Given the description of an element on the screen output the (x, y) to click on. 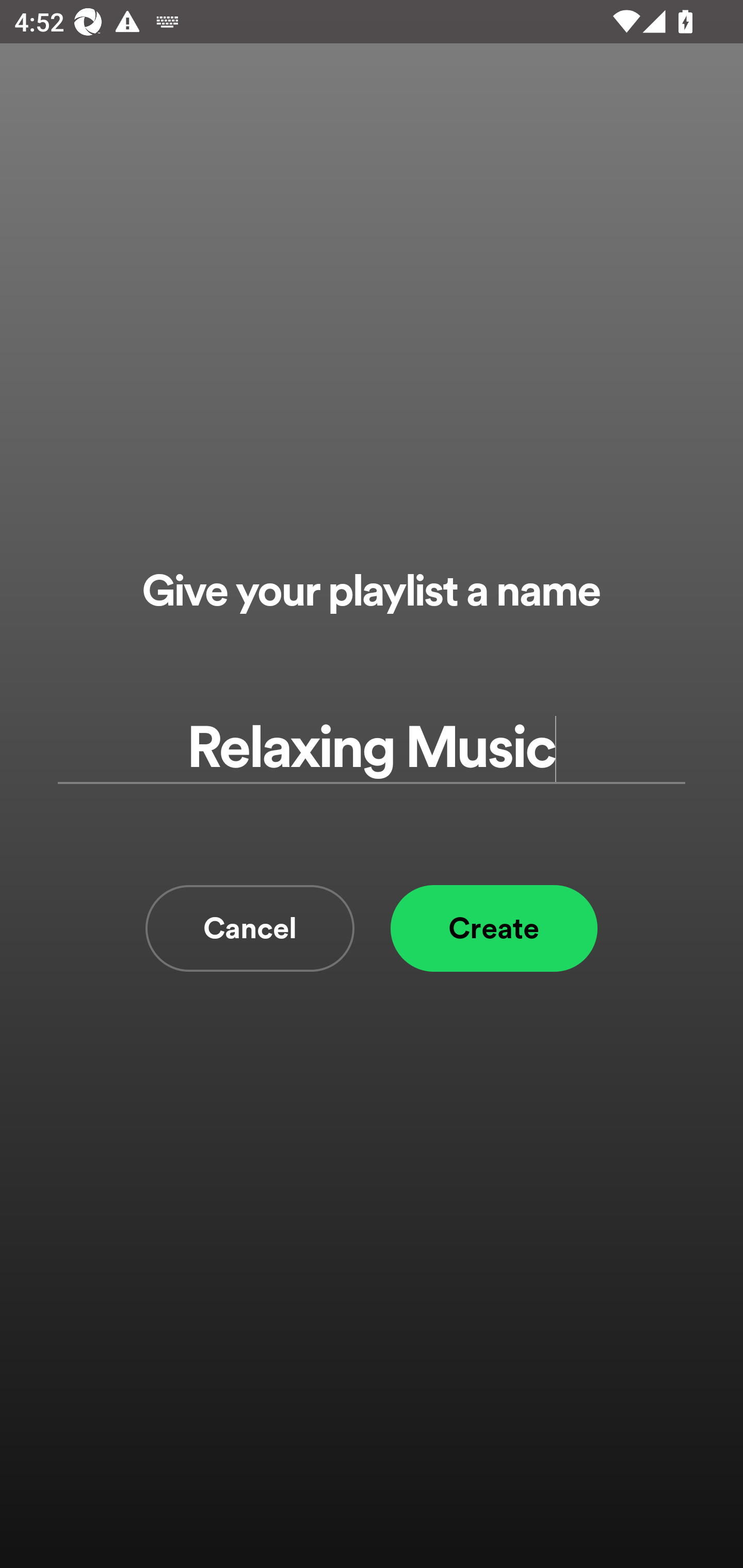
Relaxing Music Add a playlist name (371, 749)
Cancel (249, 928)
Create (493, 928)
